Given the description of an element on the screen output the (x, y) to click on. 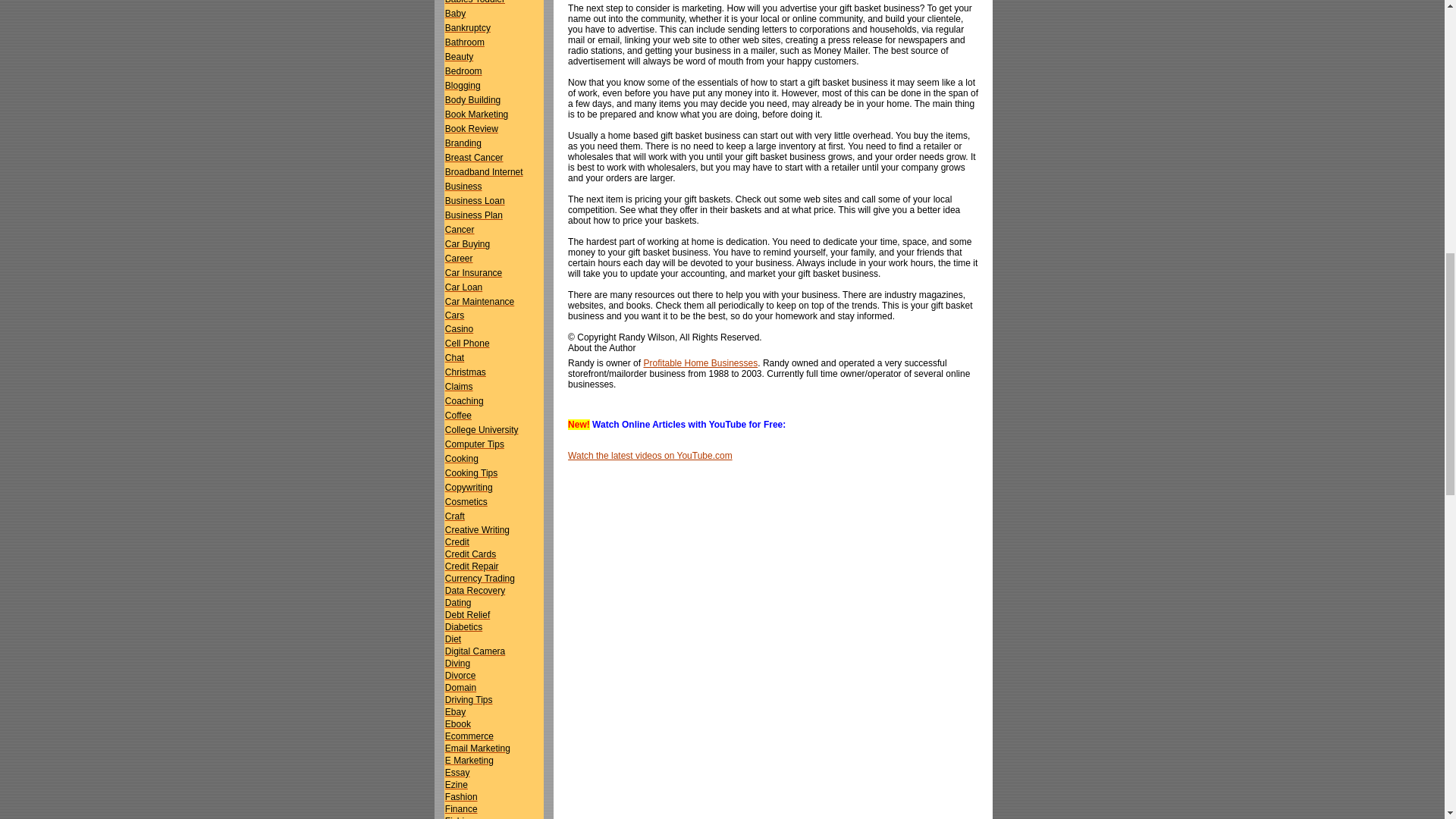
Bathroom (464, 41)
Bankruptcy (467, 27)
Baby (455, 13)
Book Marketing (476, 113)
Breast Cancer (474, 157)
Babies Toddler (475, 2)
Beauty (459, 56)
Book Review (471, 128)
Branding (463, 143)
Bedroom (463, 71)
